Given the description of an element on the screen output the (x, y) to click on. 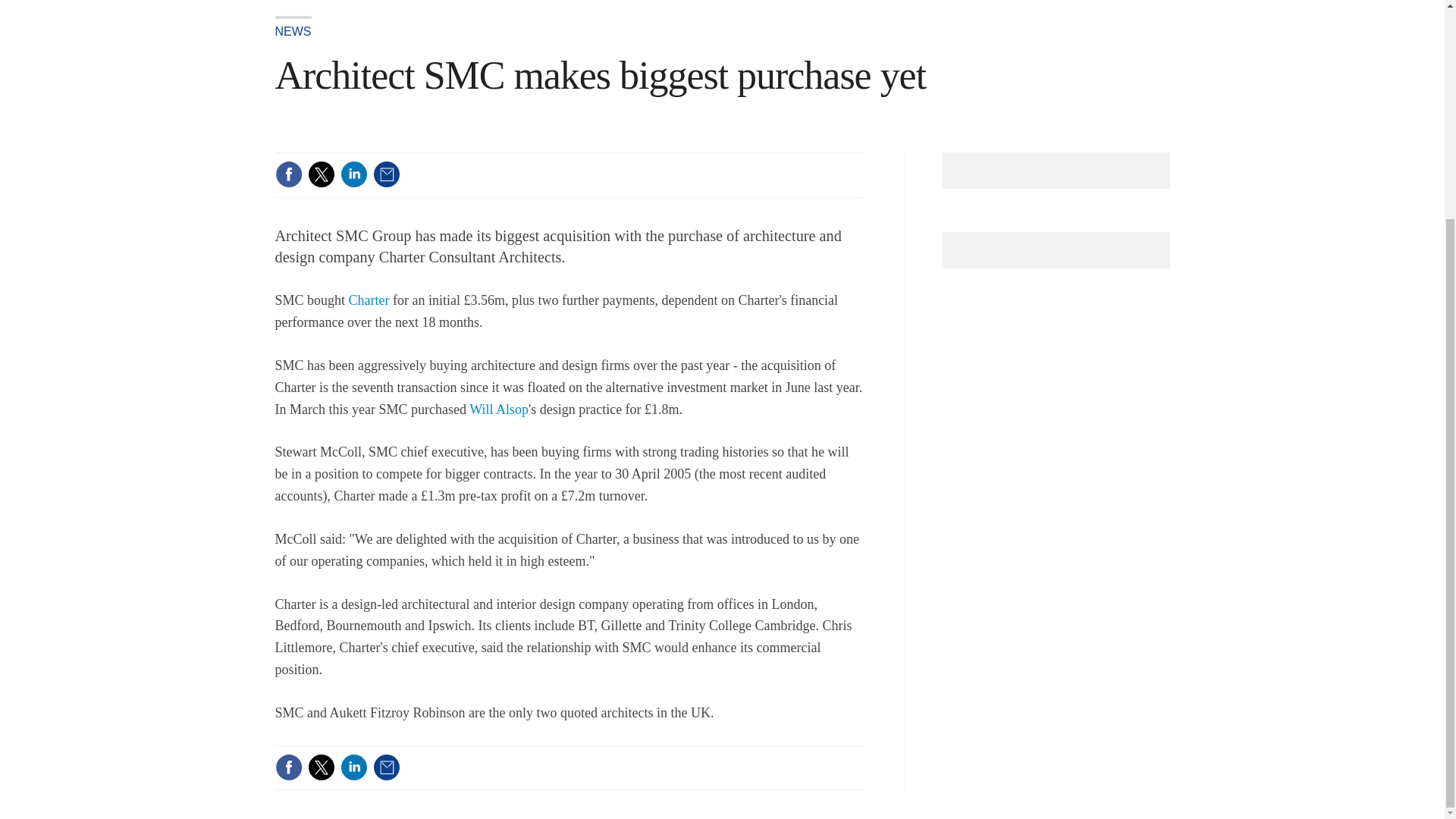
Email this article (386, 174)
Share this on Twitter (320, 174)
Share this on Linked in (352, 767)
Share this on Facebook (288, 767)
Share this on Twitter (320, 767)
Share this on Facebook (288, 174)
Share this on Linked in (352, 174)
Email this article (386, 767)
